Given the description of an element on the screen output the (x, y) to click on. 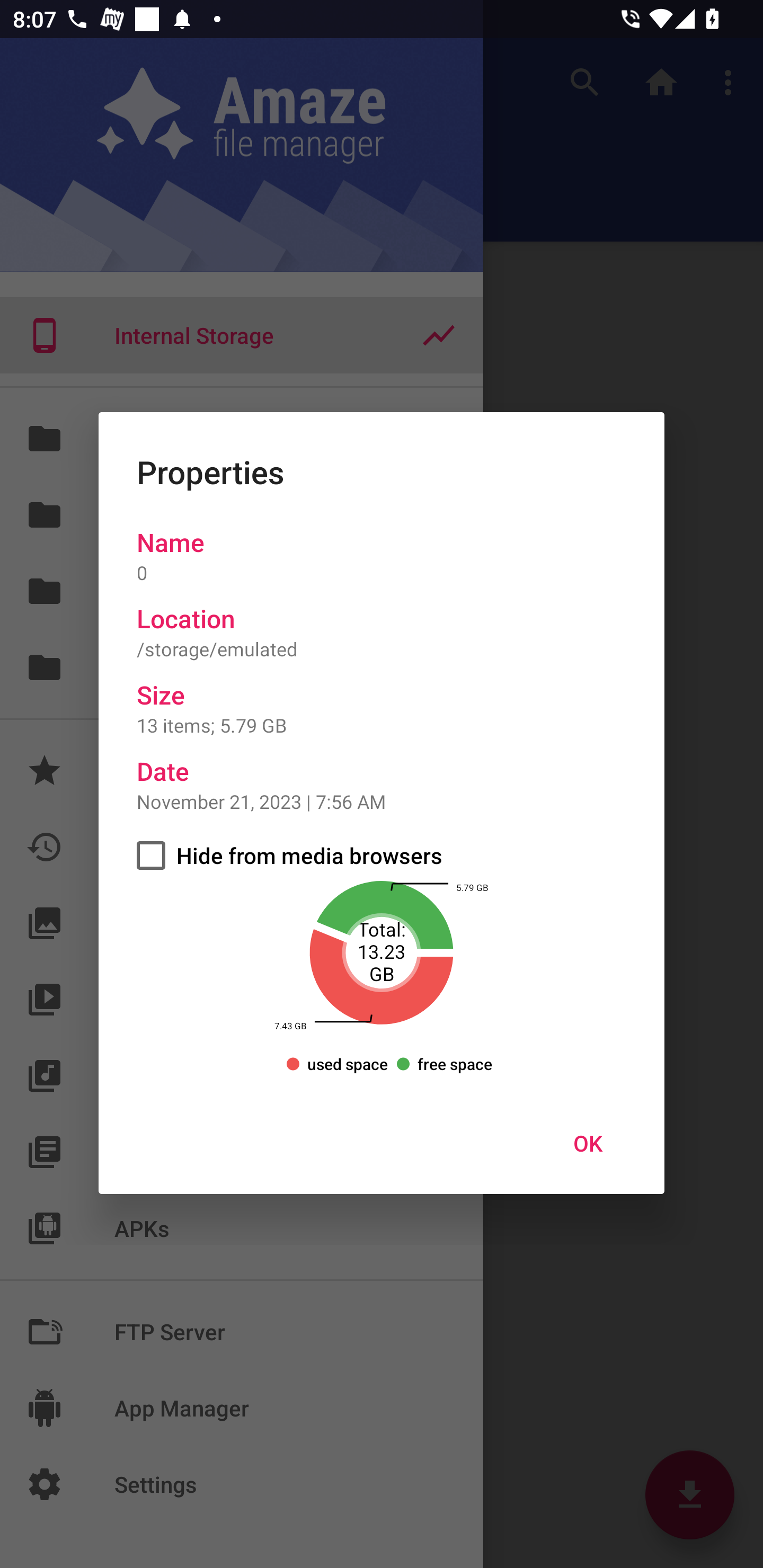
Hide from media browsers (381, 855)
OK (588, 1142)
